Given the description of an element on the screen output the (x, y) to click on. 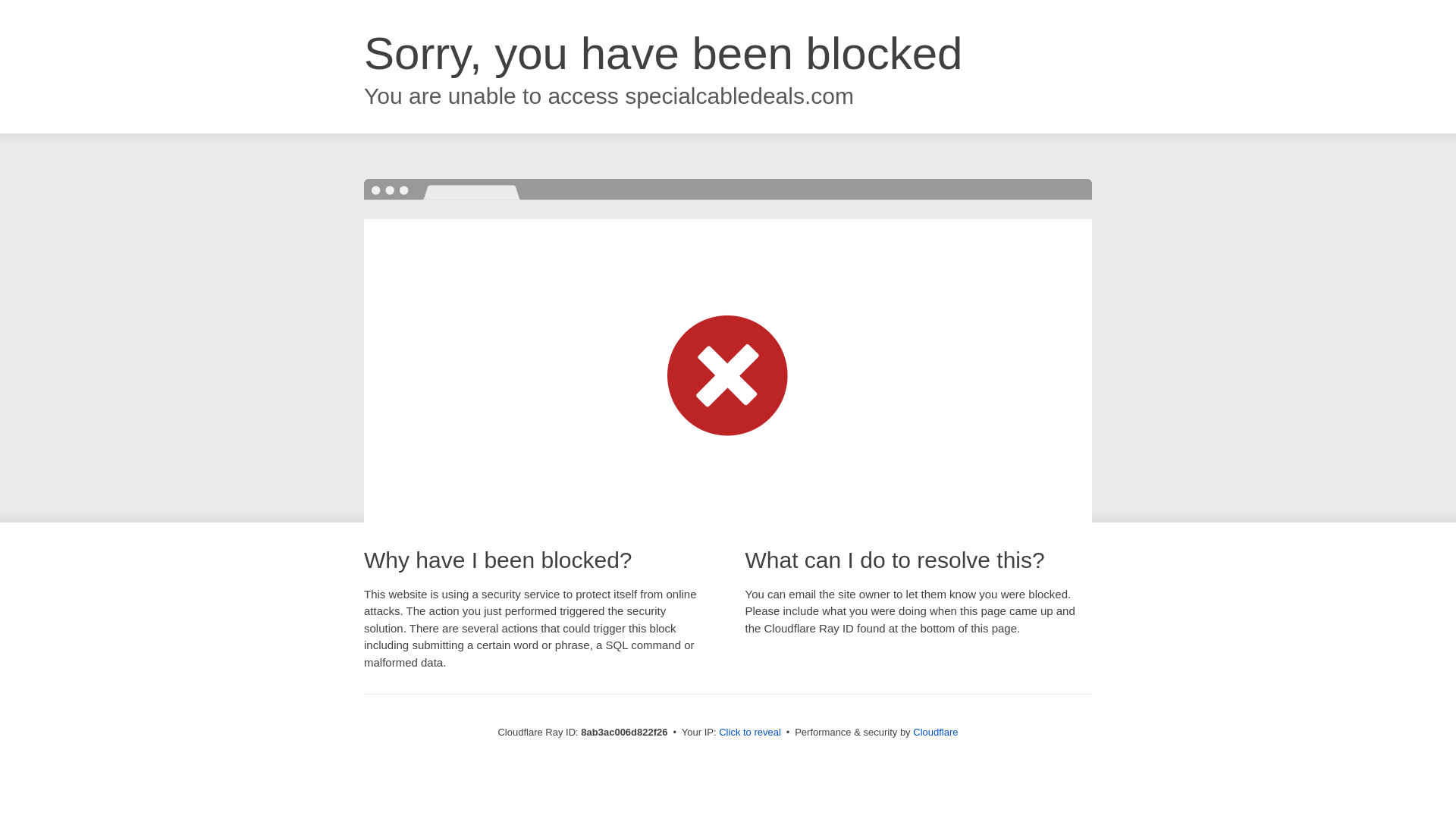
Cloudflare (935, 731)
Click to reveal (749, 732)
